Given the description of an element on the screen output the (x, y) to click on. 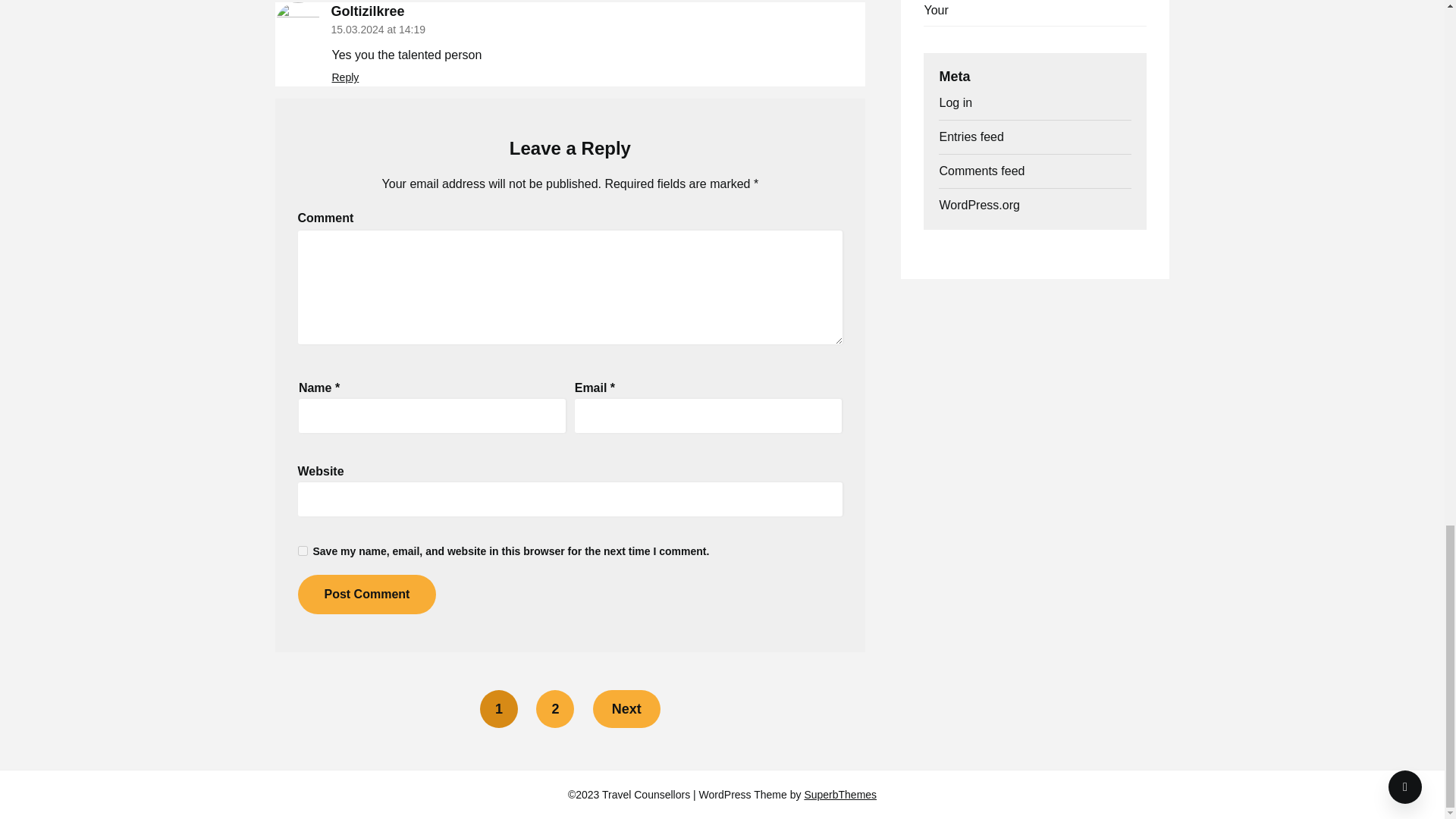
yes (302, 551)
15.03.2024 at 14:19 (377, 29)
Post Comment (366, 594)
Post Comment (366, 594)
2 (554, 709)
Next (626, 709)
Reply (345, 77)
